Given the description of an element on the screen output the (x, y) to click on. 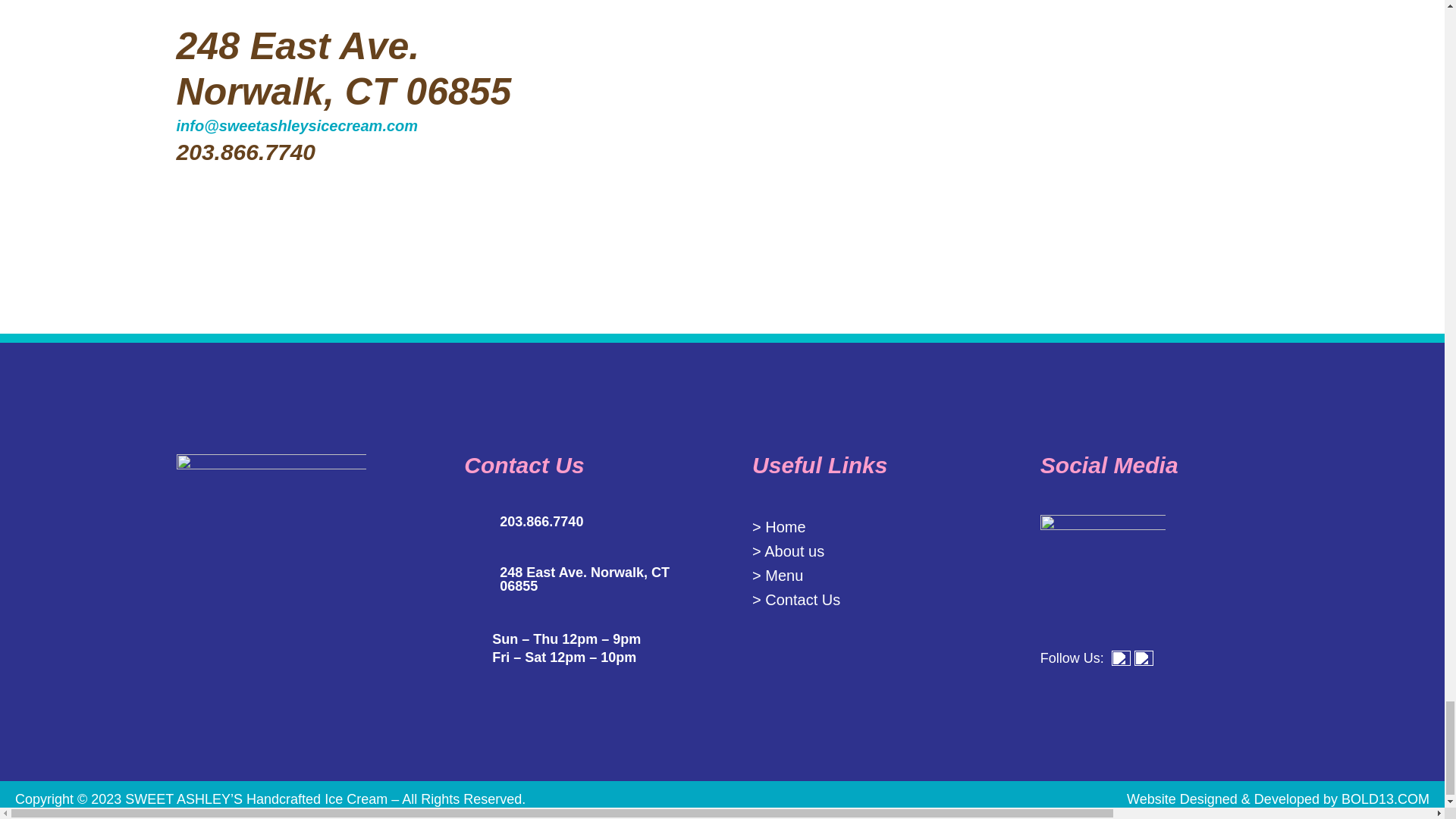
footer logo (271, 549)
203.866.7740 (541, 521)
bear footer (1078, 110)
203.866.7740 (245, 151)
